Given the description of an element on the screen output the (x, y) to click on. 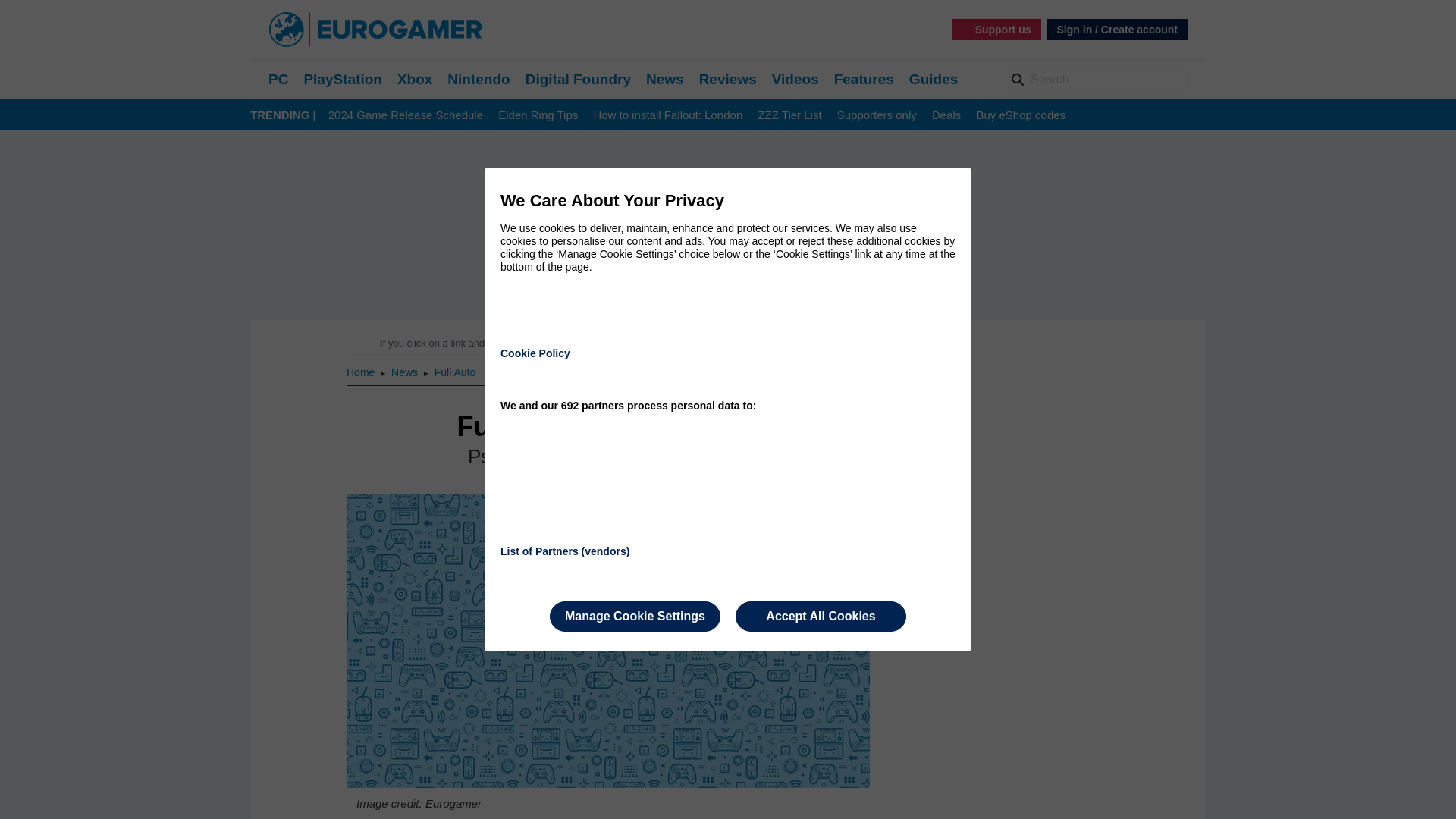
Buy eShop codes (1020, 114)
Home (361, 372)
Elden Ring Tips (537, 114)
News (405, 372)
Full Auto (454, 372)
PlayStation (341, 78)
Features (863, 78)
Supporters only (877, 114)
ZZZ Tier List (789, 114)
Nintendo (477, 78)
2024 Game Release Schedule (406, 114)
PlayStation (341, 78)
Xbox (414, 78)
2024 Game Release Schedule (406, 114)
News (405, 372)
